Given the description of an element on the screen output the (x, y) to click on. 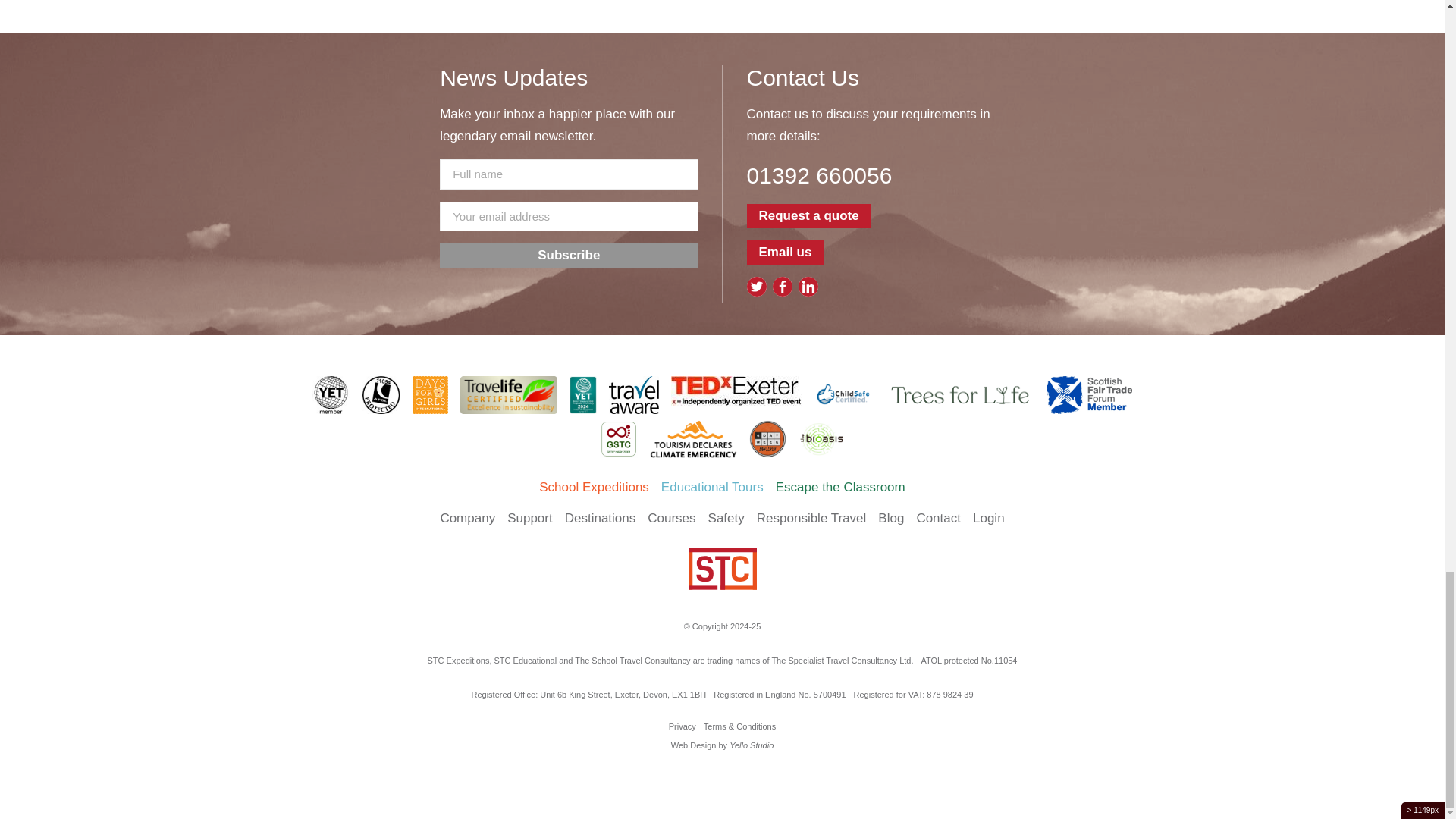
Return to homepage (721, 568)
Call us on 01392 660056 (874, 174)
Educational Tours (711, 486)
School Expeditions (593, 486)
